Given the description of an element on the screen output the (x, y) to click on. 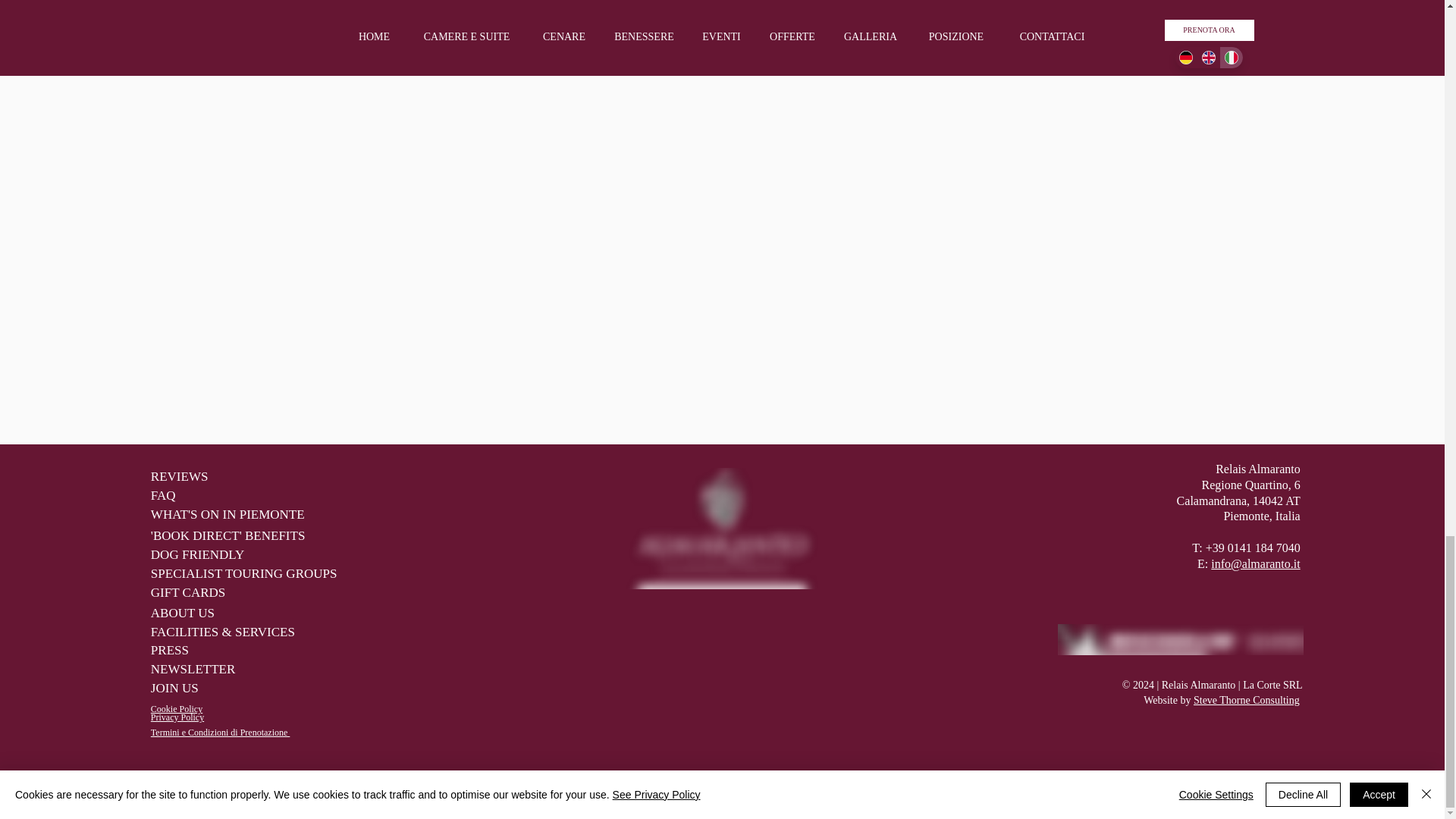
GIFT CARDS (204, 592)
DOG FRIENDLY (208, 555)
REVIEWS (252, 476)
SPECIALIST TOURING GROUPS (285, 574)
ABOUT US (204, 613)
'BOOK DIRECT' BENEFITS (290, 536)
WHAT'S ON IN PIEMONTE (248, 515)
FAQ (252, 496)
